Given the description of an element on the screen output the (x, y) to click on. 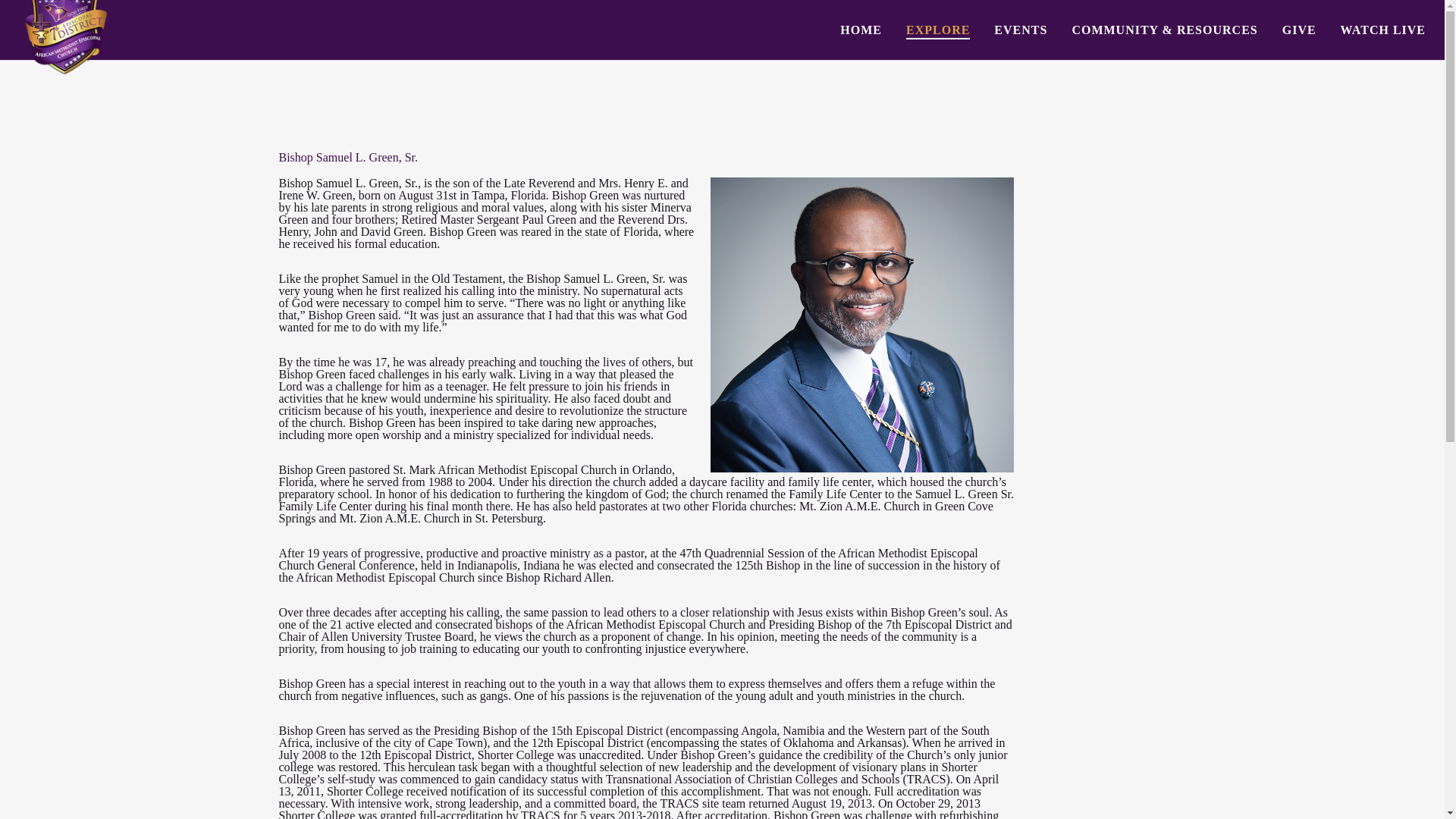
GIVE (1286, 30)
EVENTS (1007, 30)
WATCH LIVE (1370, 30)
HOME (848, 30)
EXPLORE (925, 30)
